Given the description of an element on the screen output the (x, y) to click on. 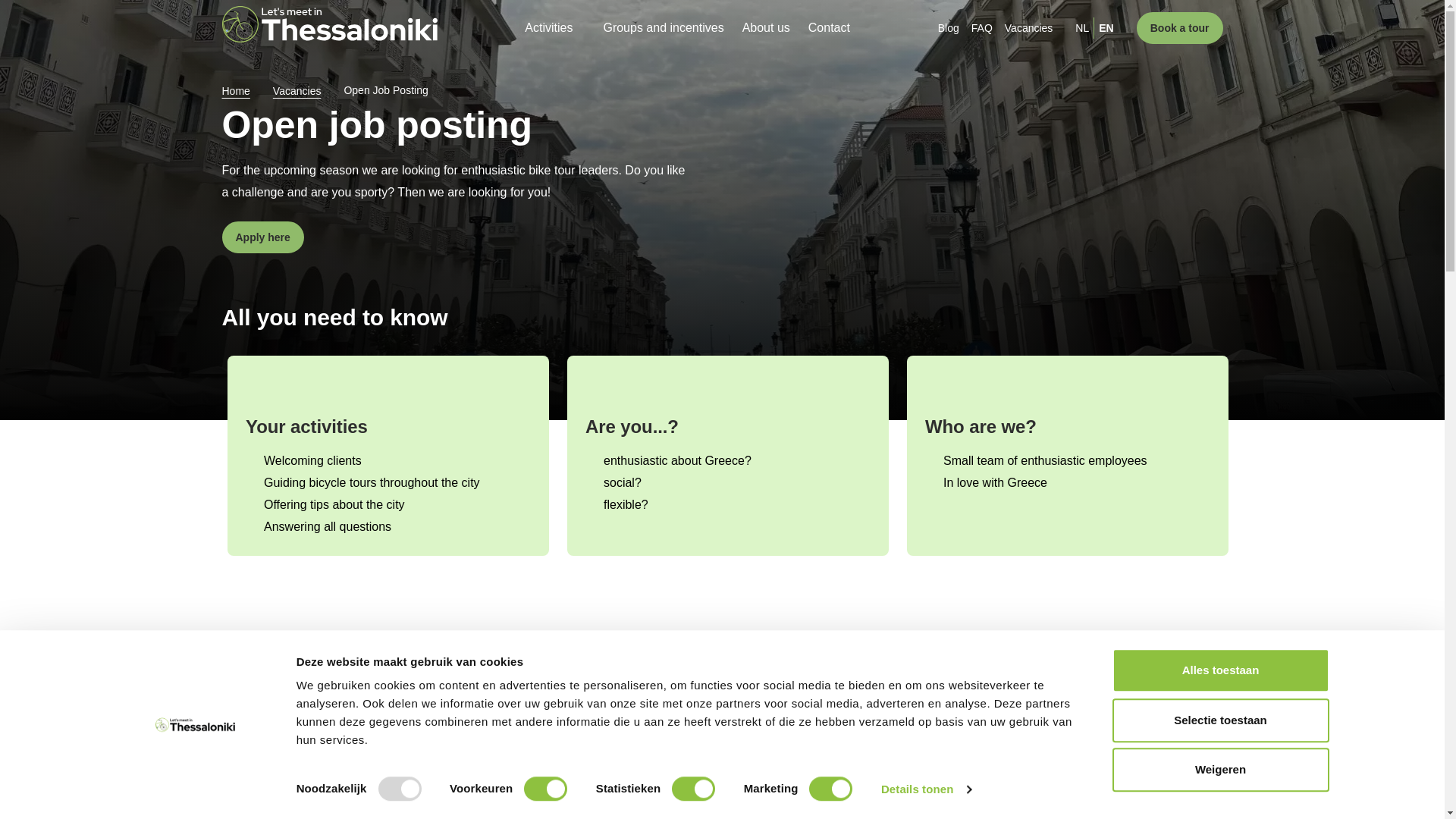
Chevron down (580, 26)
Ga naar content (13, 12)
Alles toestaan (1219, 670)
Weigeren (1219, 769)
Chevron down (261, 91)
Selectie toestaan (1219, 720)
Chevron down (331, 91)
Details tonen (925, 789)
